Given the description of an element on the screen output the (x, y) to click on. 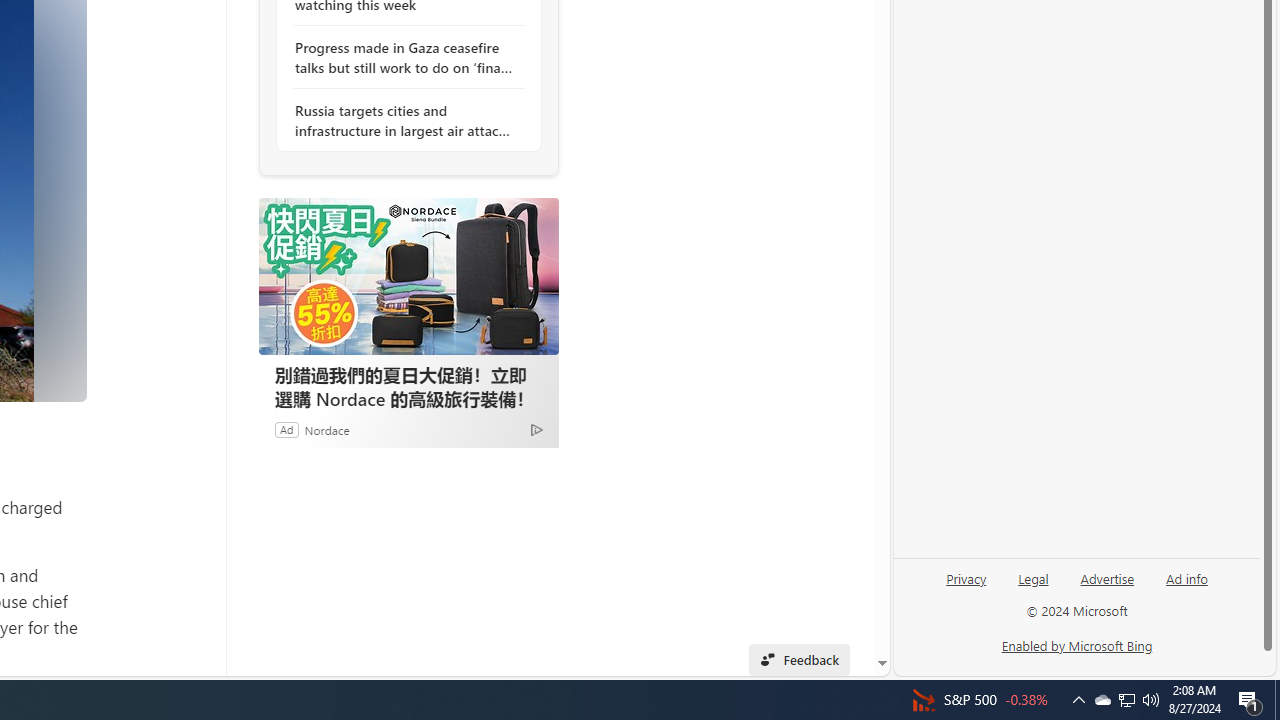
Ad info (1187, 577)
Ad info (1186, 586)
